Given the description of an element on the screen output the (x, y) to click on. 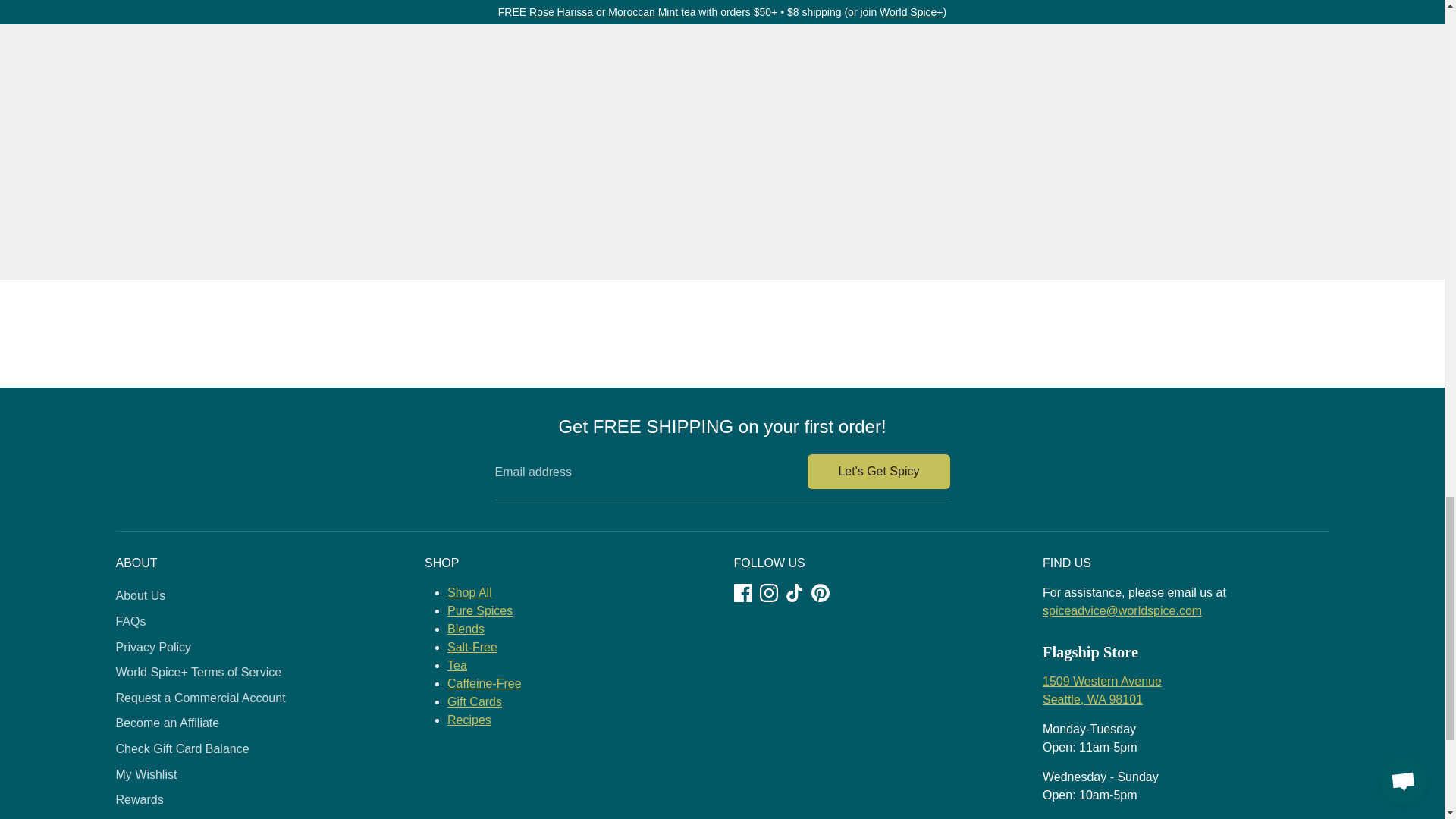
World Spice Gift Card (474, 701)
Shop All (469, 592)
